Given the description of an element on the screen output the (x, y) to click on. 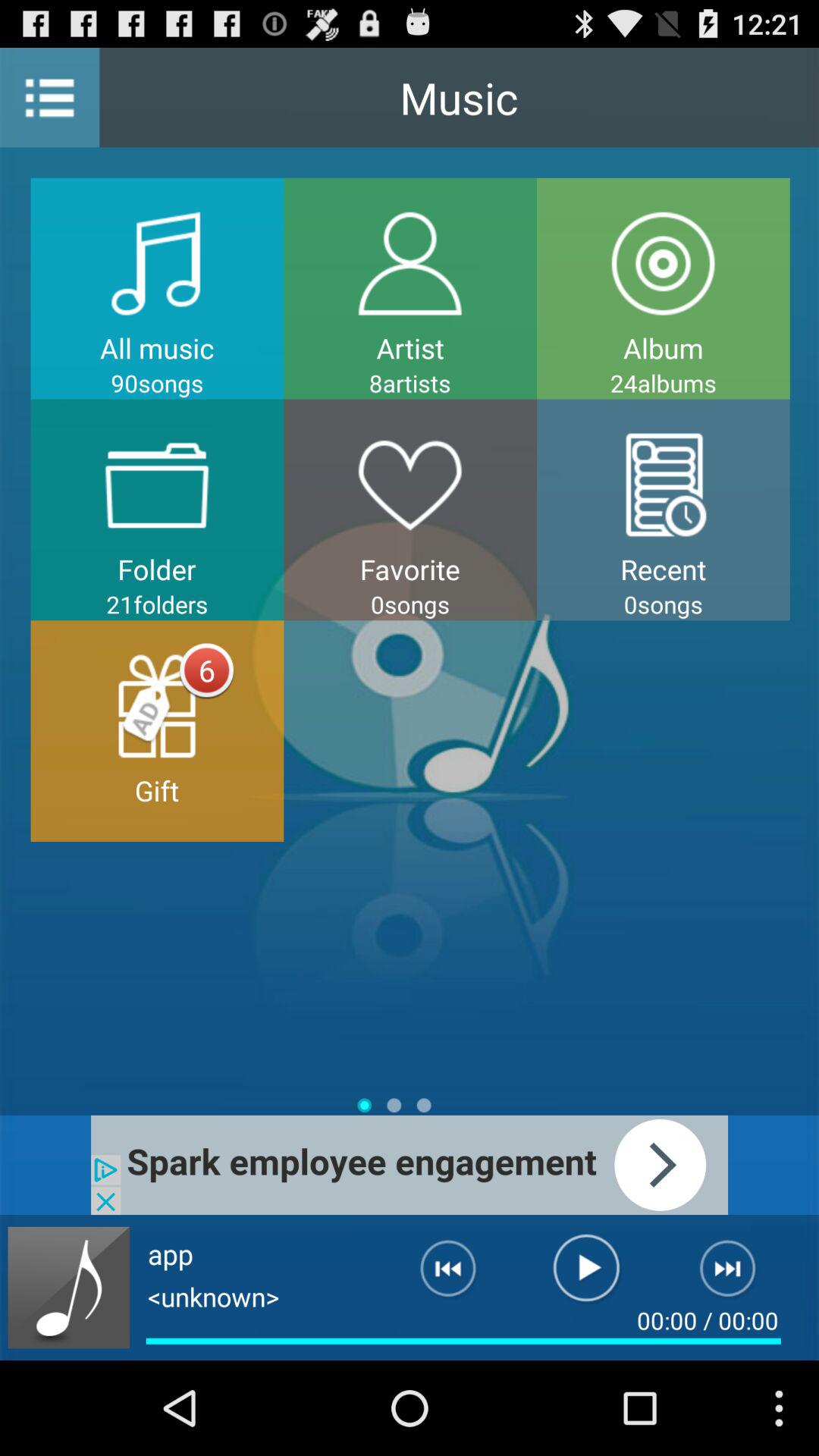
switch autoplay option (68, 1287)
